Given the description of an element on the screen output the (x, y) to click on. 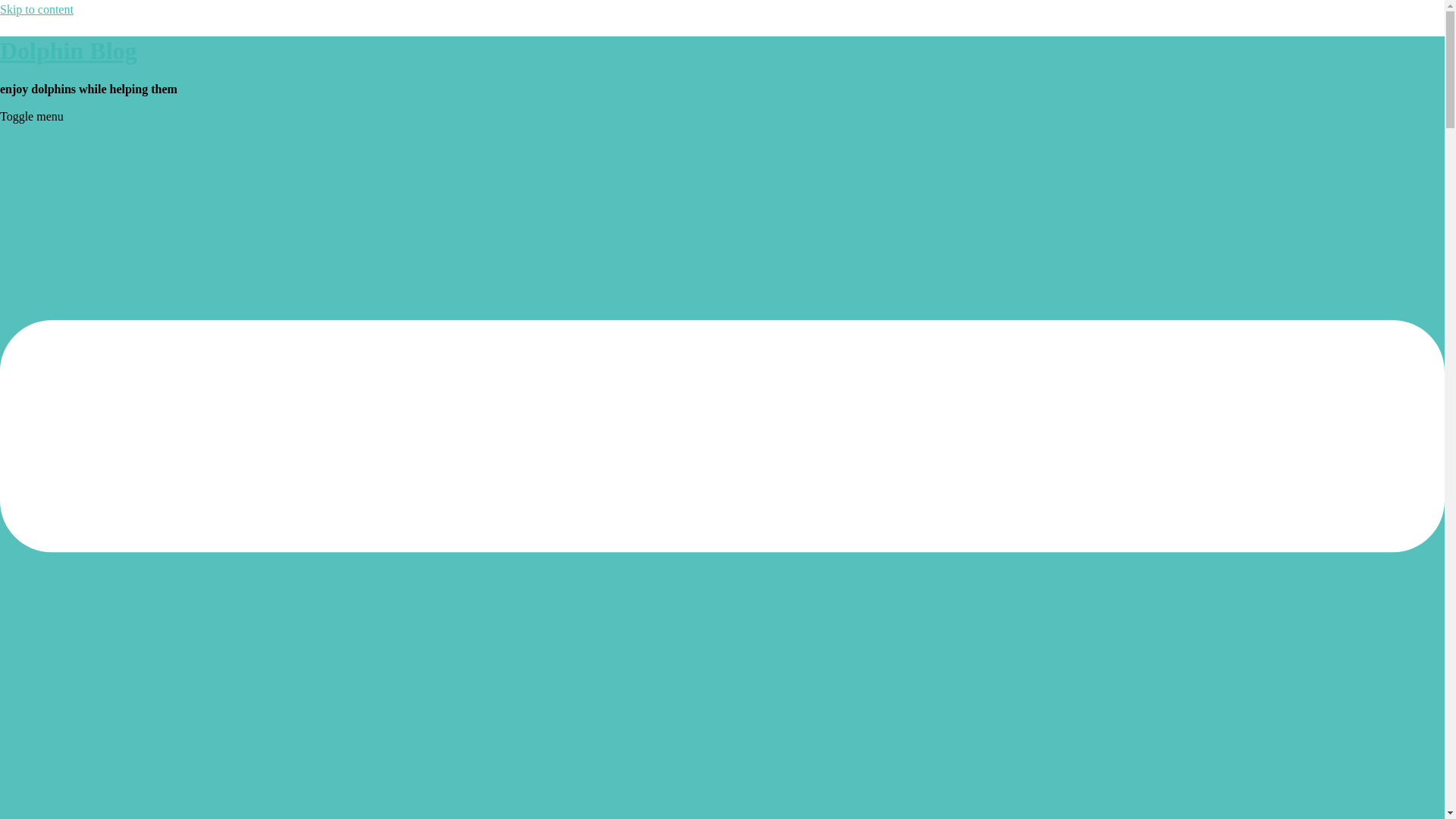
Skip to content (37, 9)
Dolphin Blog (68, 50)
